Given the description of an element on the screen output the (x, y) to click on. 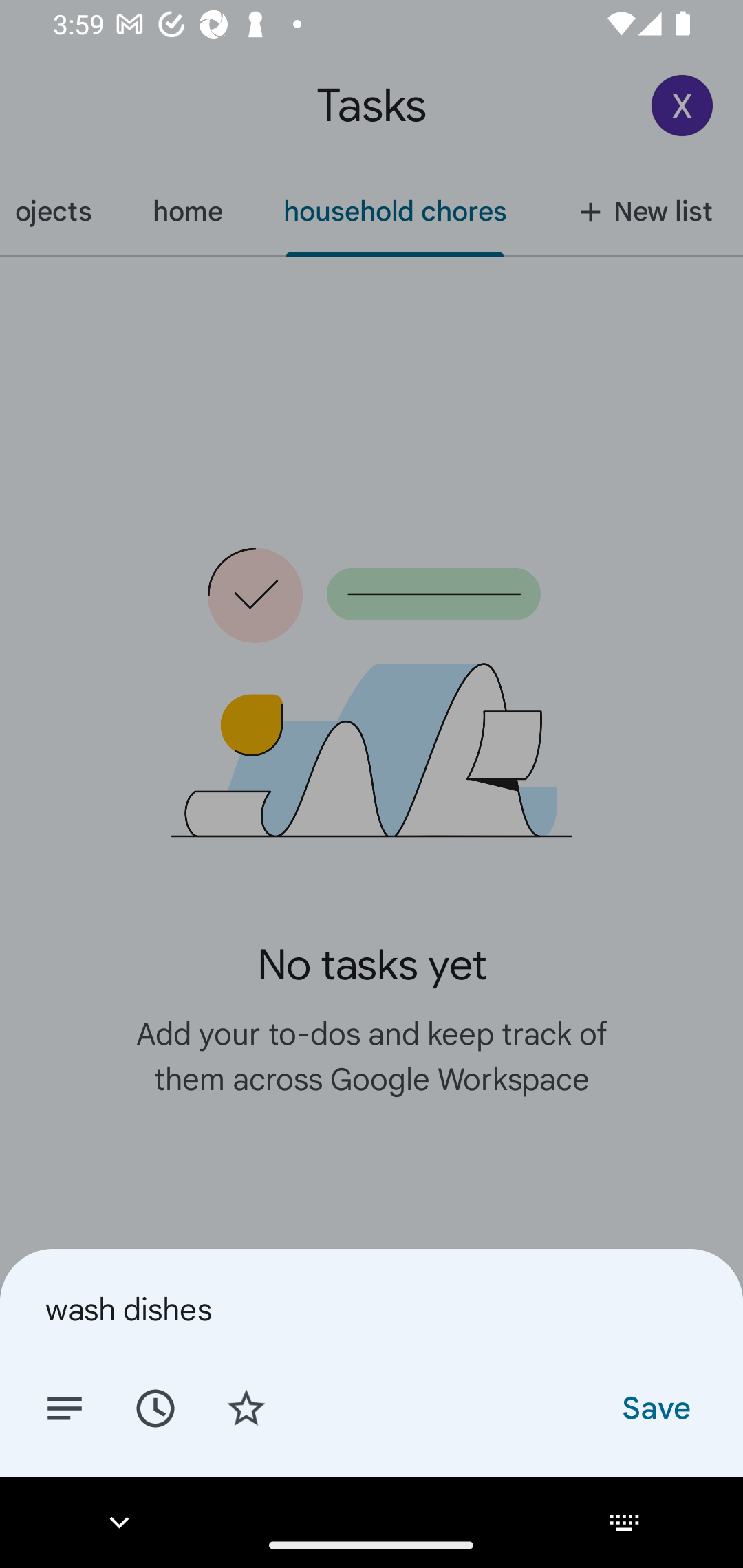
wash dishes (371, 1308)
Save (655, 1407)
Add details (64, 1407)
Set date/time (154, 1407)
Add star (245, 1407)
